Given the description of an element on the screen output the (x, y) to click on. 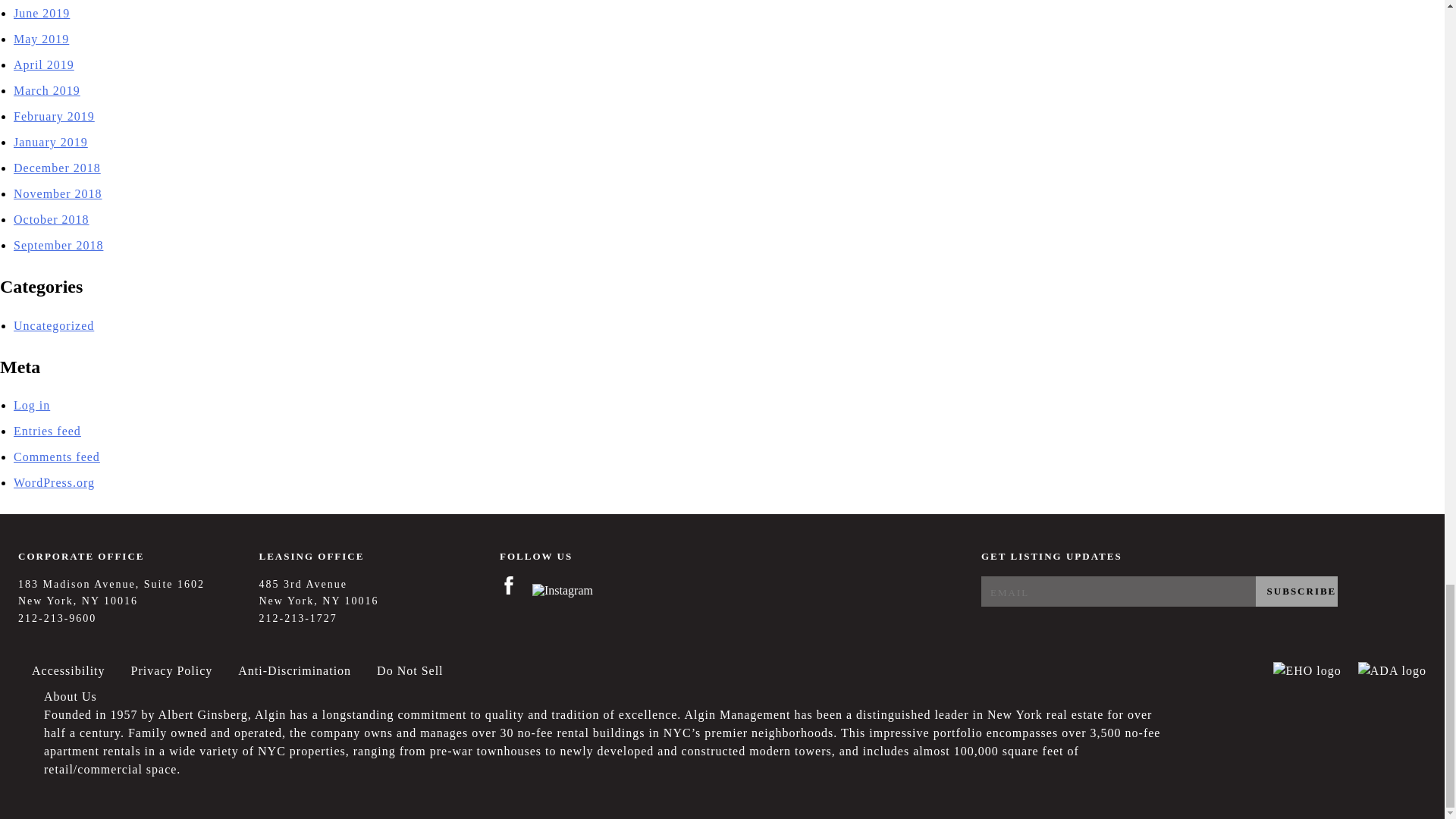
Subscribe (1296, 591)
Call 212-213-1727 (298, 618)
Facebook (515, 590)
Instagram (568, 590)
Call 212-213-9600 (56, 618)
About Us (64, 700)
